Given the description of an element on the screen output the (x, y) to click on. 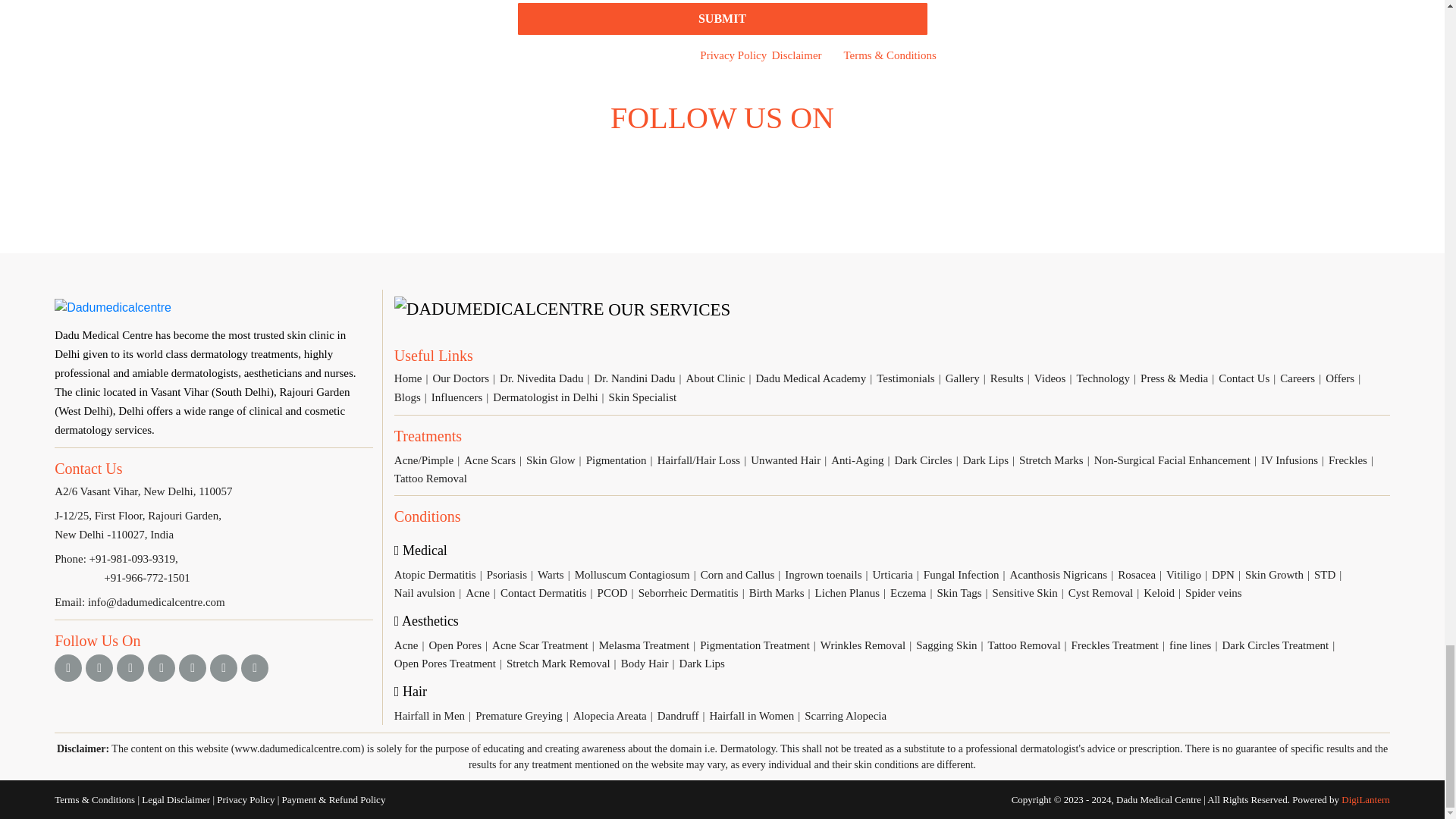
Pinterest (223, 667)
Instagram (99, 667)
Linkedin (192, 667)
Pinterest (783, 176)
Soundcloud (908, 176)
Youtube (161, 667)
Twitter (845, 176)
Youtube (659, 176)
Twitter (130, 667)
Soundcloud (254, 667)
Facebook (68, 667)
Submit (721, 19)
Instagram (597, 176)
Facebook (535, 176)
Linkedin (721, 176)
